Given the description of an element on the screen output the (x, y) to click on. 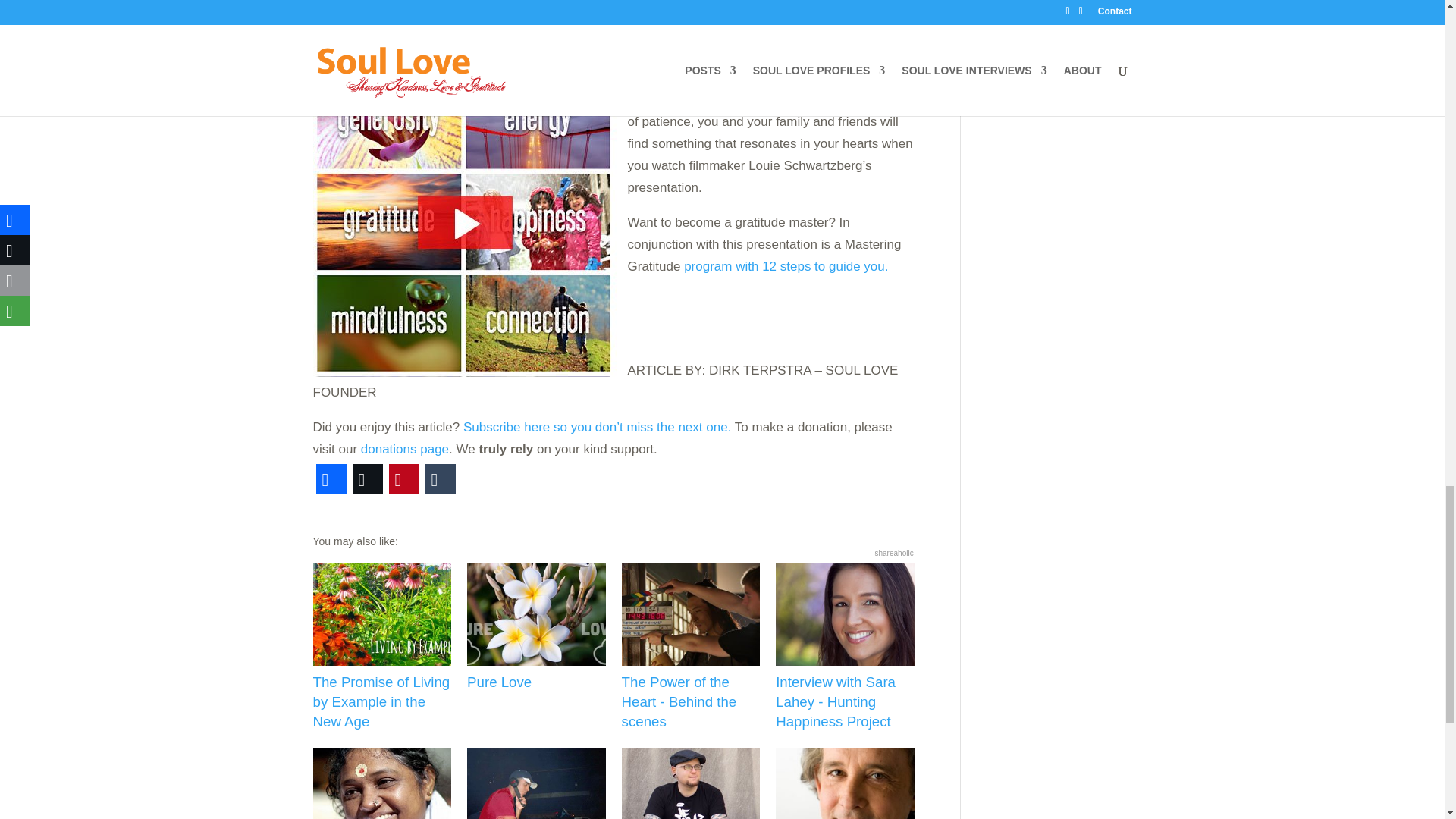
gratitude films (464, 221)
Interview with Sara Lahey - Hunting Happiness Project (845, 647)
Pinterest (403, 479)
Facebook (331, 479)
Pure Love (536, 627)
Donations (404, 449)
Tumblr (440, 479)
The Power of the Heart - Behind the scenes (690, 647)
The Promise of Living by Example in the New Age (382, 647)
